Given the description of an element on the screen output the (x, y) to click on. 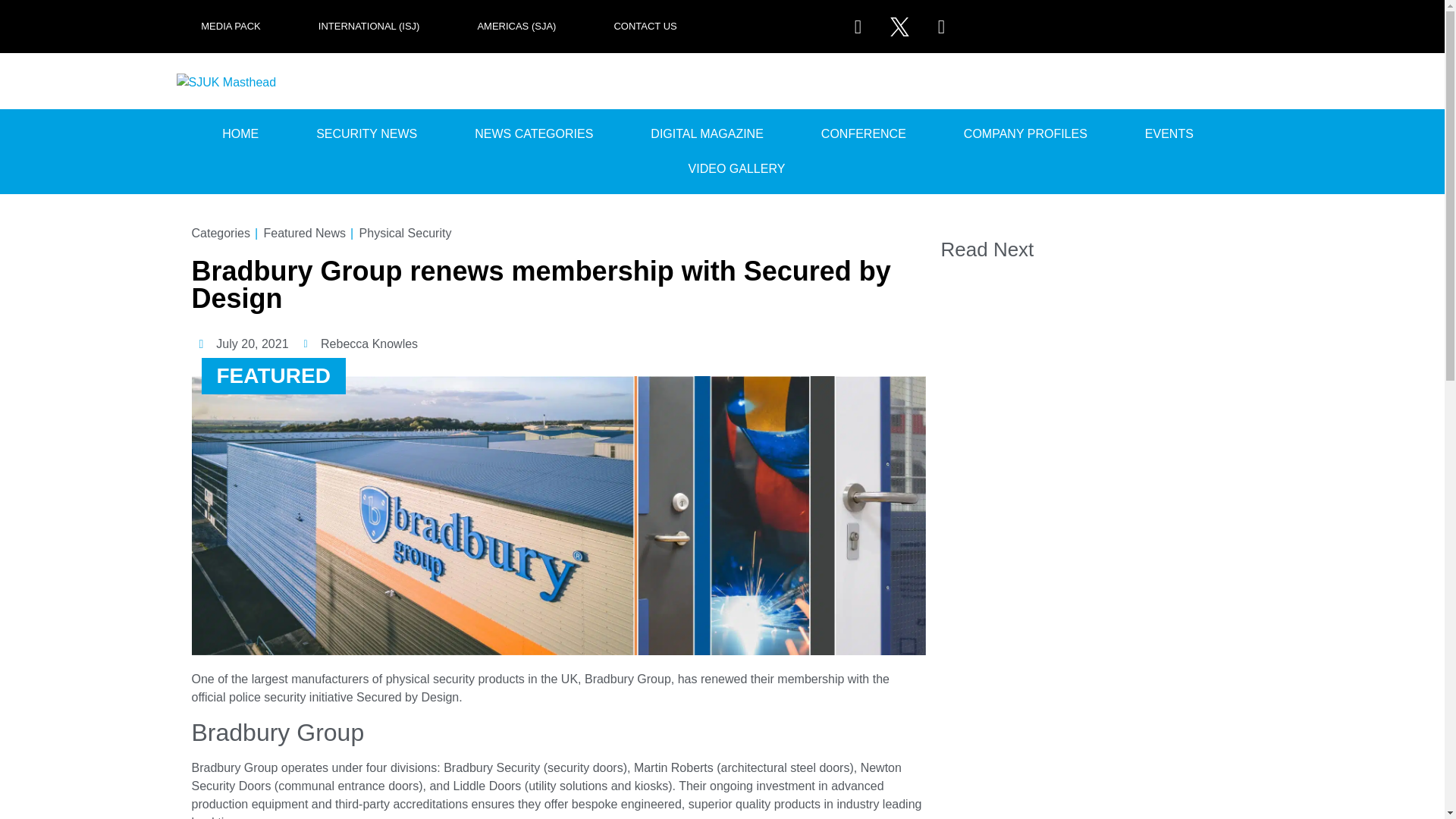
CONFERENCE (863, 134)
SECURITY NEWS (365, 134)
Categories (219, 233)
NEWS CATEGORIES (533, 134)
SJUK Masthead Black (229, 81)
DIGITAL MAGAZINE (706, 134)
COMPANY PROFILES (1025, 134)
CONTACT US (644, 26)
Featured News (304, 233)
EVENTS (1168, 134)
MEDIA PACK (230, 26)
VIDEO GALLERY (737, 168)
HOME (240, 134)
